Given the description of an element on the screen output the (x, y) to click on. 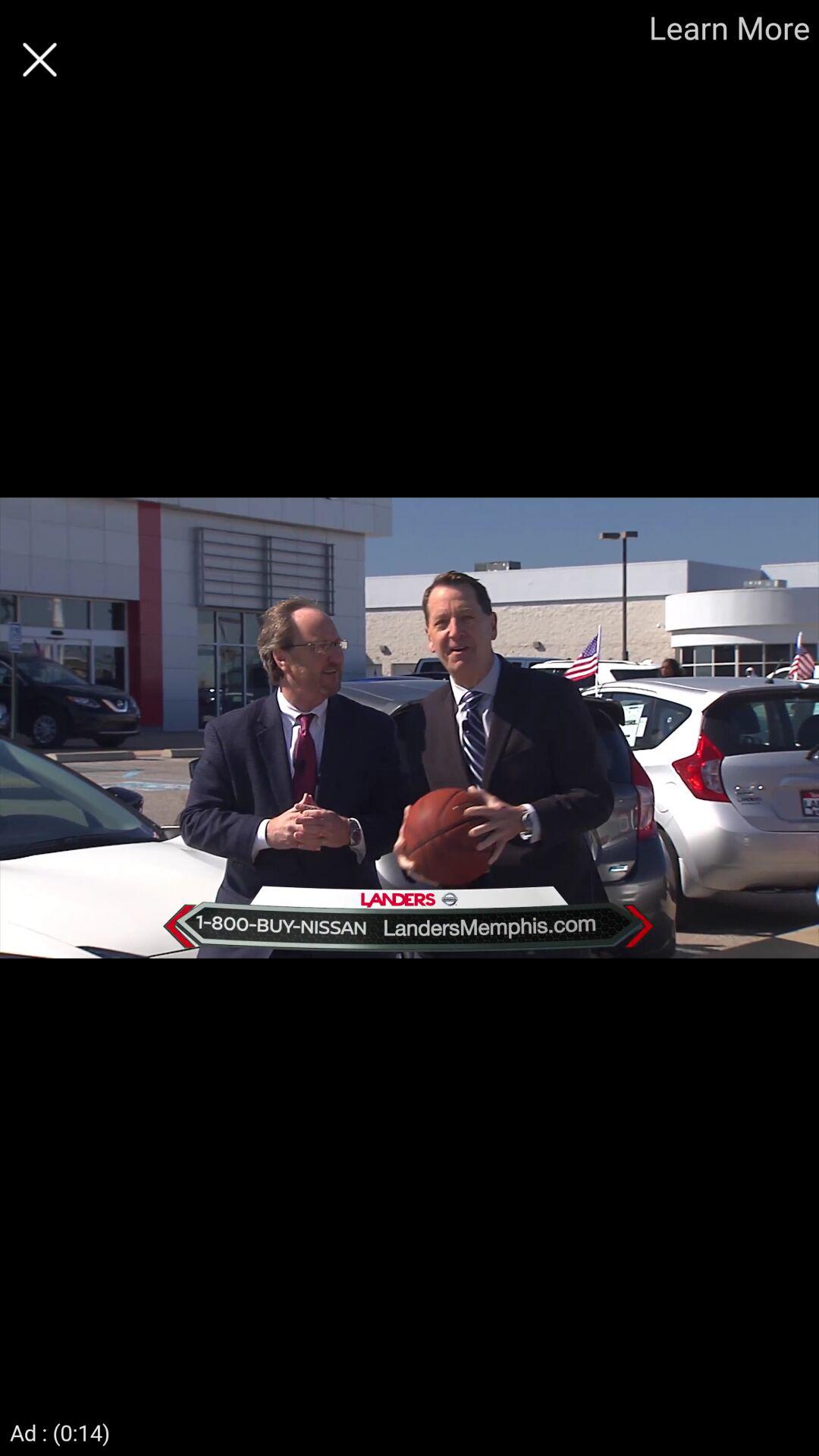
close video (39, 59)
